Given the description of an element on the screen output the (x, y) to click on. 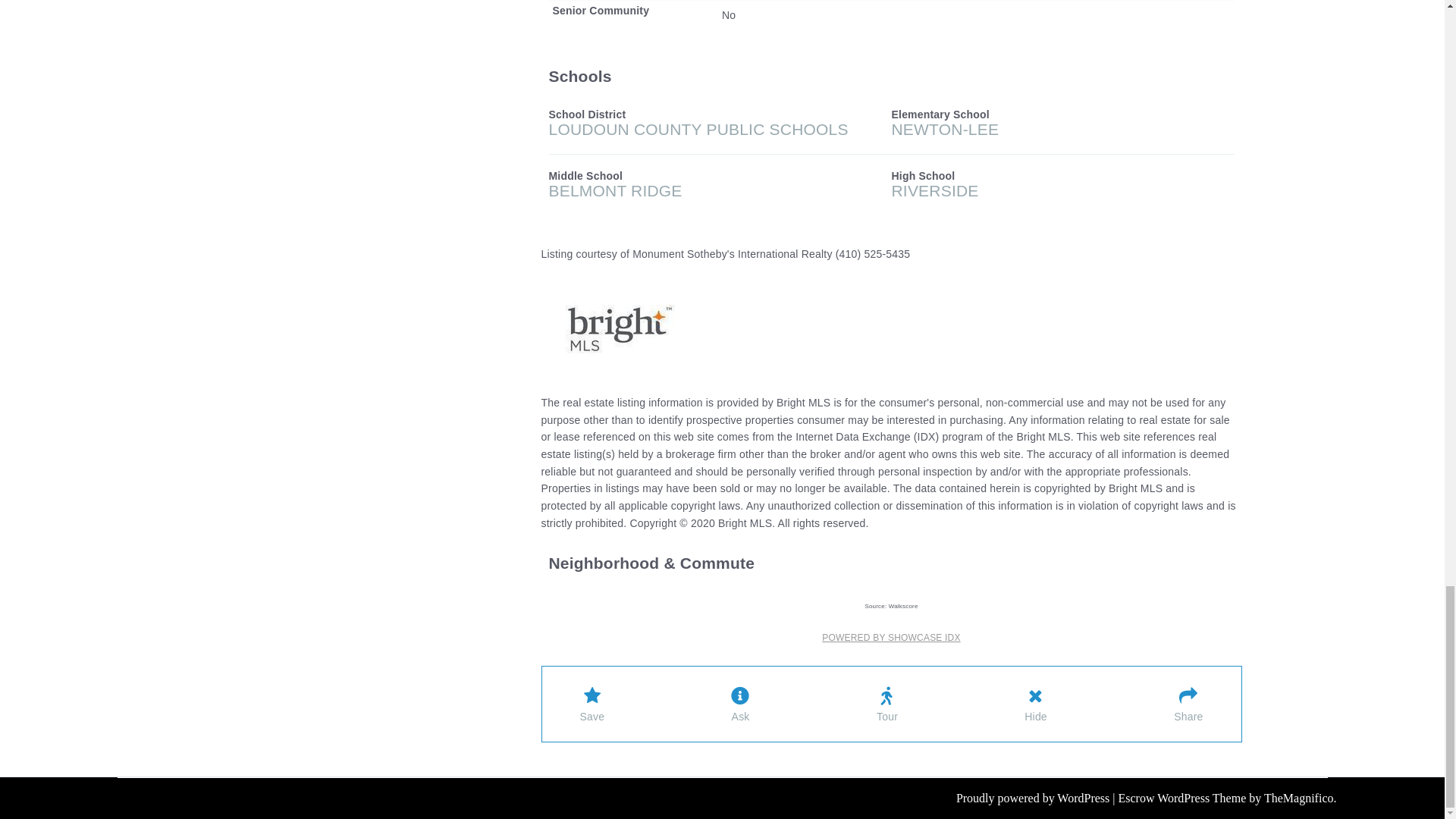
Escrow WordPress Theme (1183, 797)
POWERED BY SHOWCASE IDX (890, 637)
Proudly powered by WordPress (1034, 797)
